Given the description of an element on the screen output the (x, y) to click on. 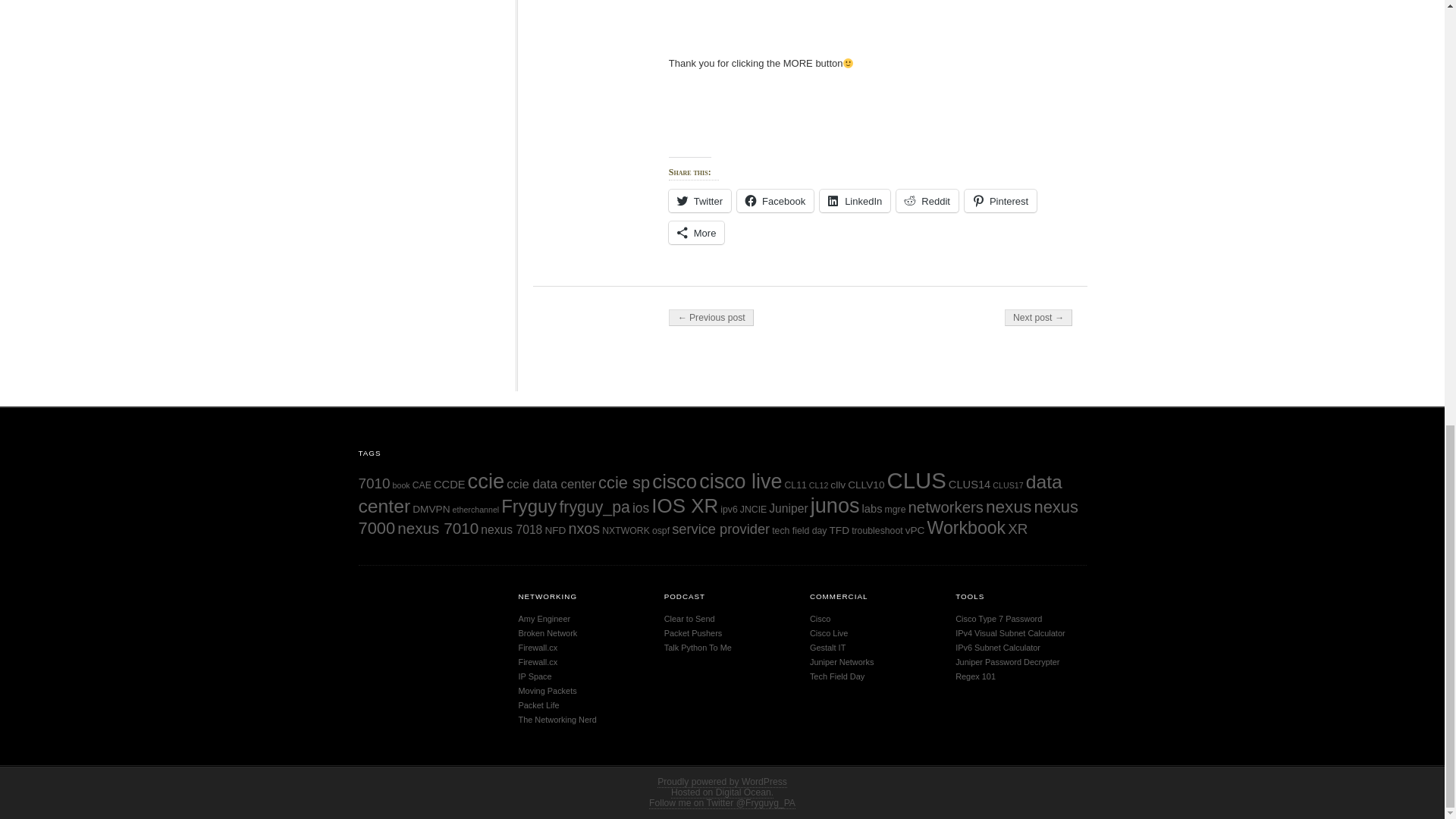
Facebook (774, 200)
Twitter (699, 200)
Click to share on LinkedIn (854, 200)
book (401, 484)
ccie data center (550, 483)
ccie (486, 481)
Click to share on Twitter (699, 200)
Click to share on Facebook (774, 200)
Pinterest (999, 200)
Click to share on Pinterest (999, 200)
